Given the description of an element on the screen output the (x, y) to click on. 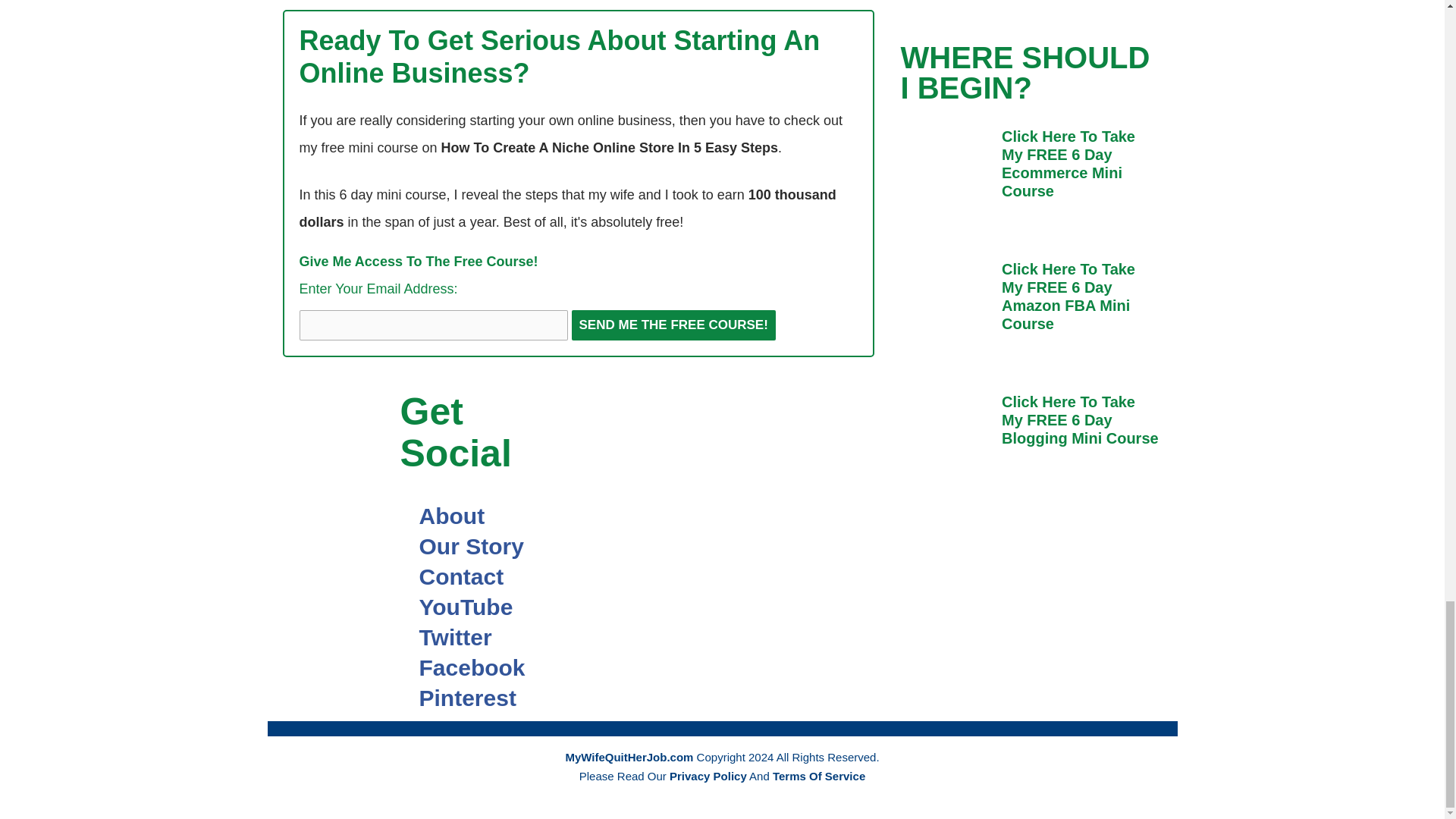
Send Me The Free Course! (674, 325)
My Recommended Merchant Account And Gateway (1083, 423)
My recommended hosting service (978, 423)
Send Me The Free Course! (674, 325)
Woocommerce (792, 533)
Klaviyo (687, 533)
My recommended hosting service (978, 527)
Privy (792, 637)
Jungle Scout (682, 423)
Shopify (786, 423)
